Given the description of an element on the screen output the (x, y) to click on. 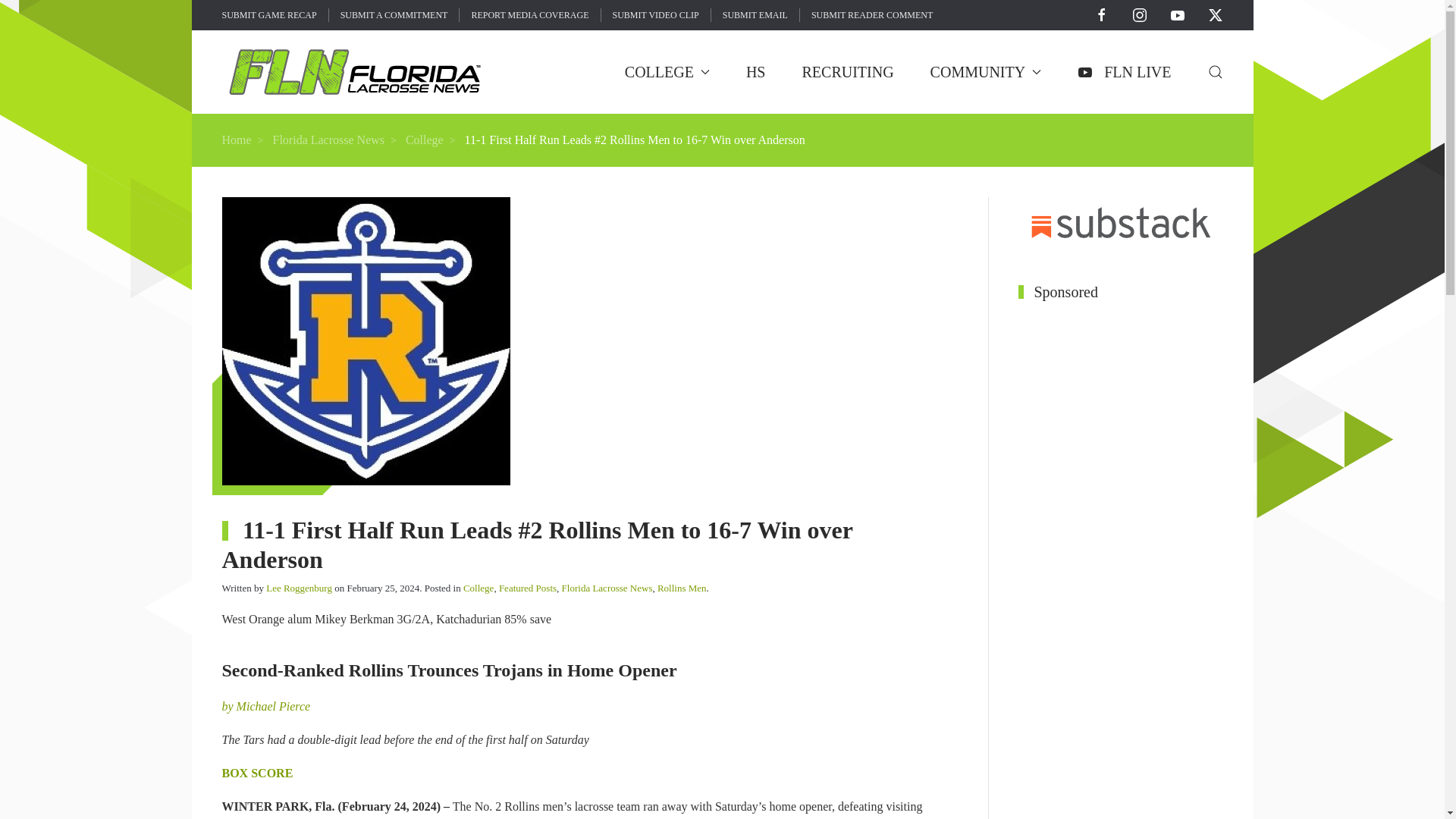
COMMUNITY (986, 71)
HS (755, 71)
SUBMIT A COMMITMENT (394, 15)
SUBMIT READER COMMENT (871, 15)
Advertisement (1108, 137)
RECRUITING (847, 71)
FLN Livestream (1123, 71)
SUBMIT GAME RECAP (268, 15)
COLLEGE (667, 71)
SUBMIT EMAIL (754, 15)
FLN LIVE (1123, 71)
REPORT MEDIA COVERAGE (529, 15)
Advertisement (1120, 559)
SUBMIT VIDEO CLIP (655, 15)
